Given the description of an element on the screen output the (x, y) to click on. 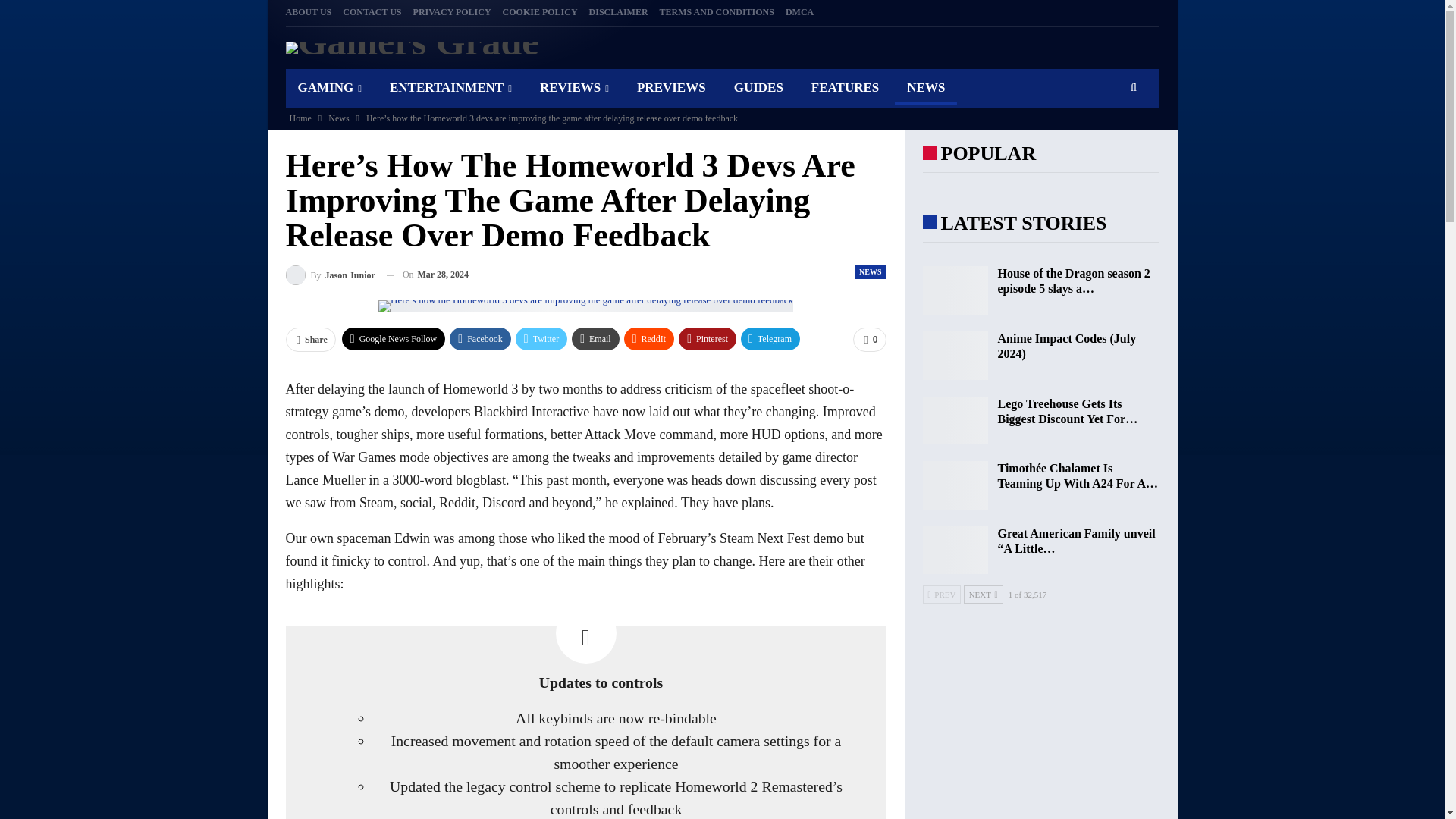
ReddIt (649, 338)
Twitter (541, 338)
Telegram (770, 338)
GAMING (328, 87)
By Jason Junior (329, 274)
REVIEWS (574, 87)
Google News Follow (393, 338)
News (339, 117)
Email (596, 338)
PREVIEWS (670, 87)
DISCLAIMER (618, 11)
ENTERTAINMENT (450, 87)
Pinterest (707, 338)
Home (300, 117)
0 (869, 339)
